Given the description of an element on the screen output the (x, y) to click on. 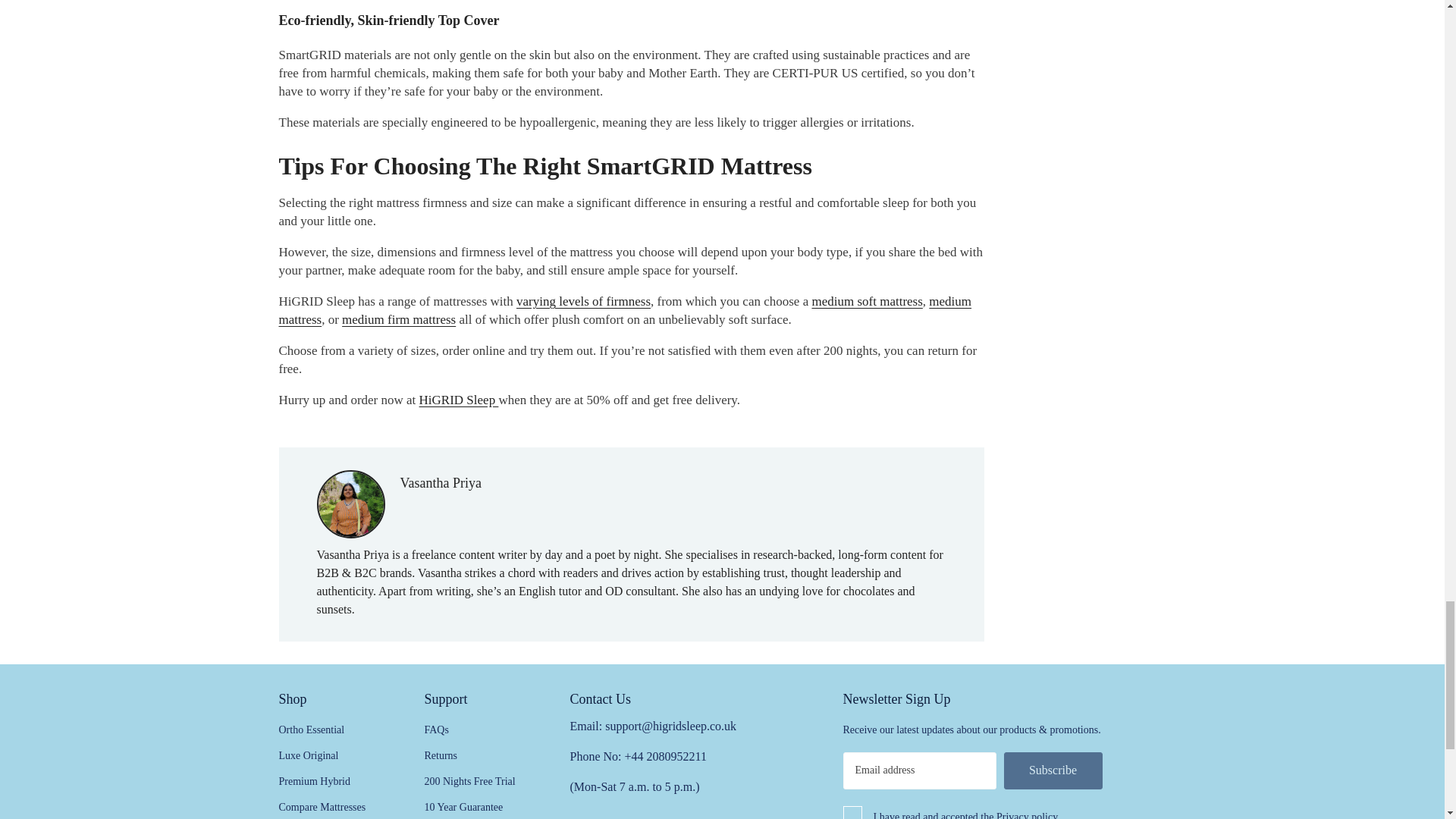
medium mattress (625, 310)
varying levels of firmness (583, 301)
medium firm mattress (398, 319)
medium soft mattress (865, 301)
Privacy Statement (1026, 812)
